Given the description of an element on the screen output the (x, y) to click on. 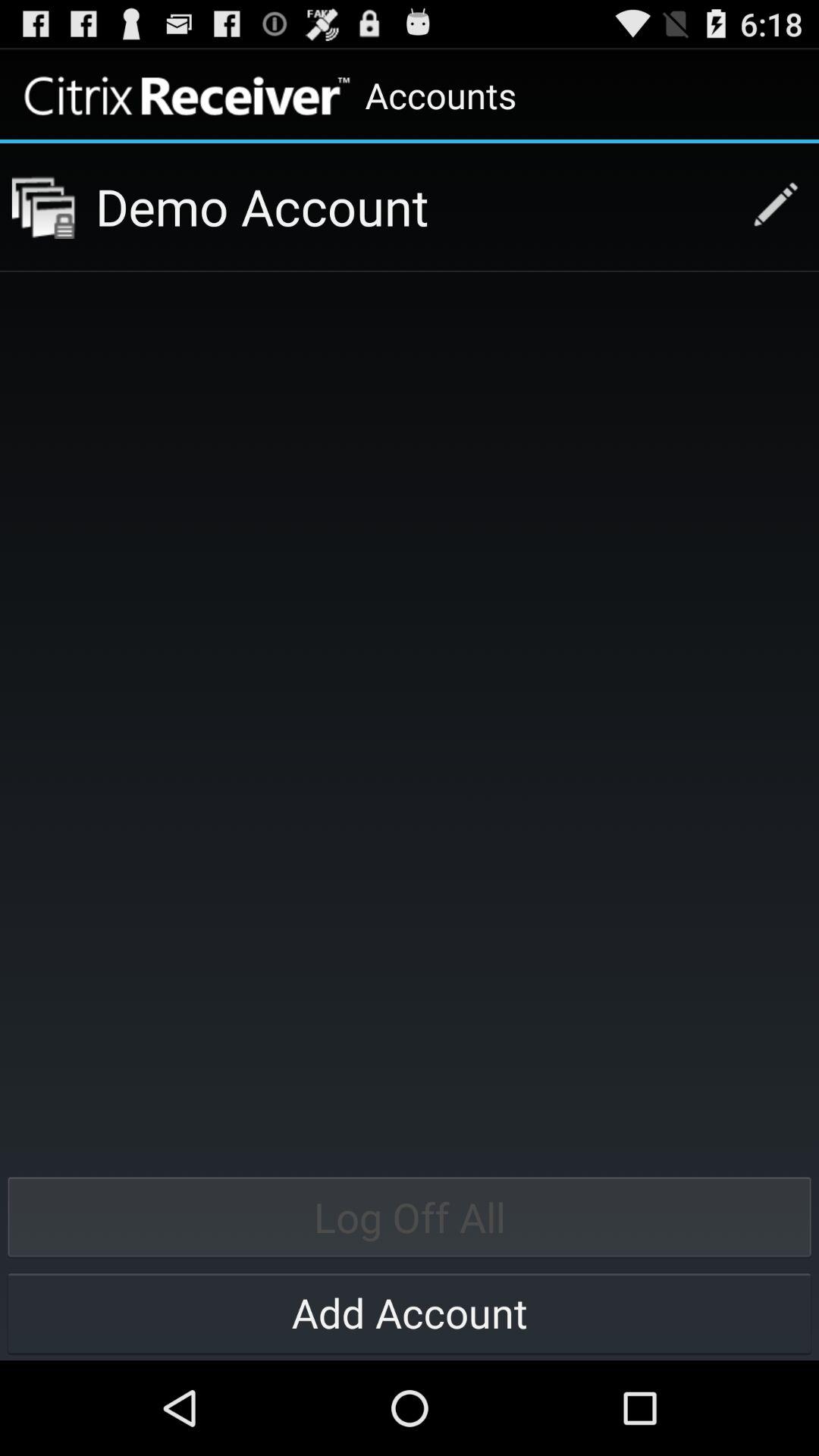
choose icon above add account icon (409, 1216)
